Given the description of an element on the screen output the (x, y) to click on. 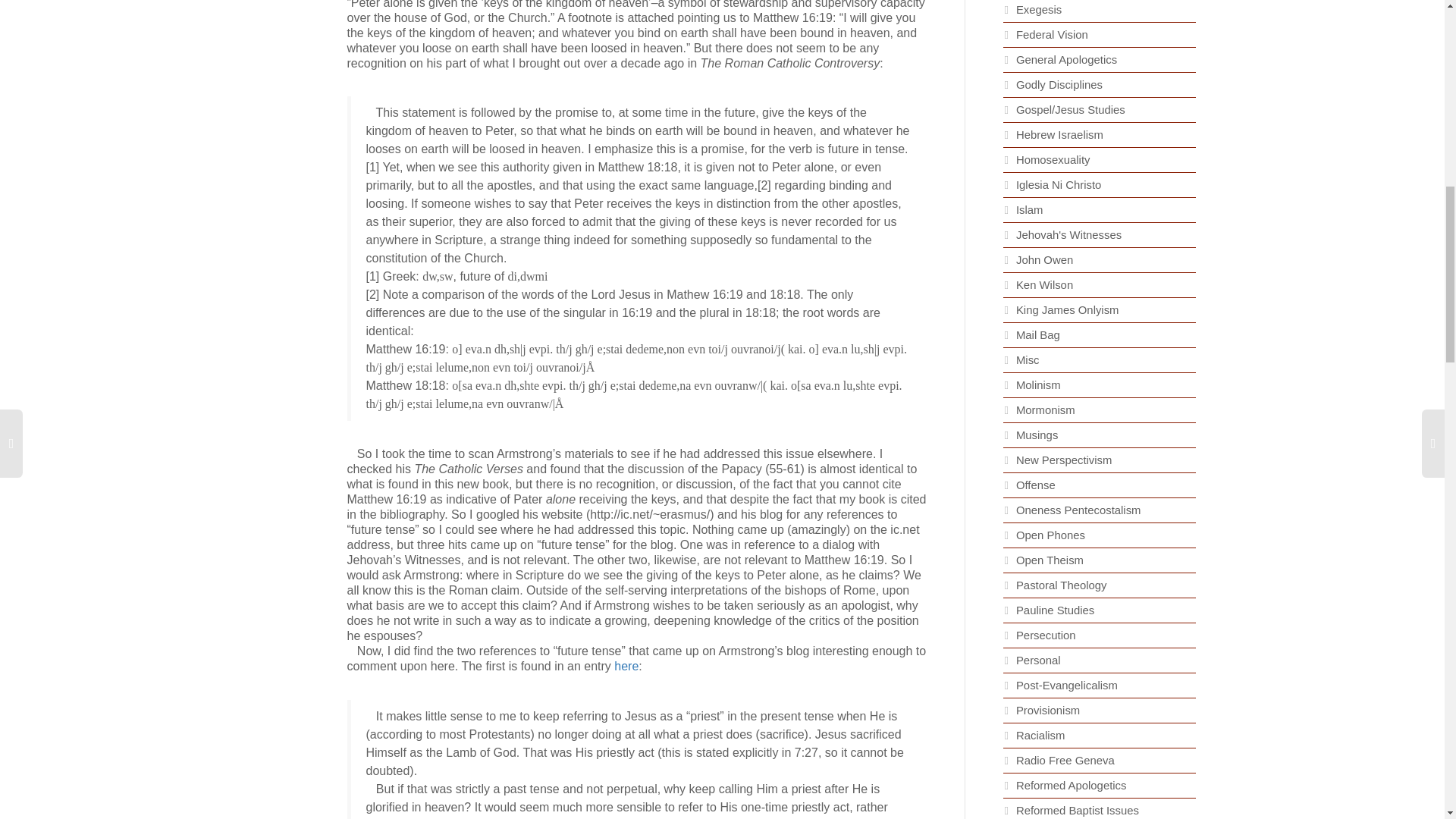
here (626, 666)
